Given the description of an element on the screen output the (x, y) to click on. 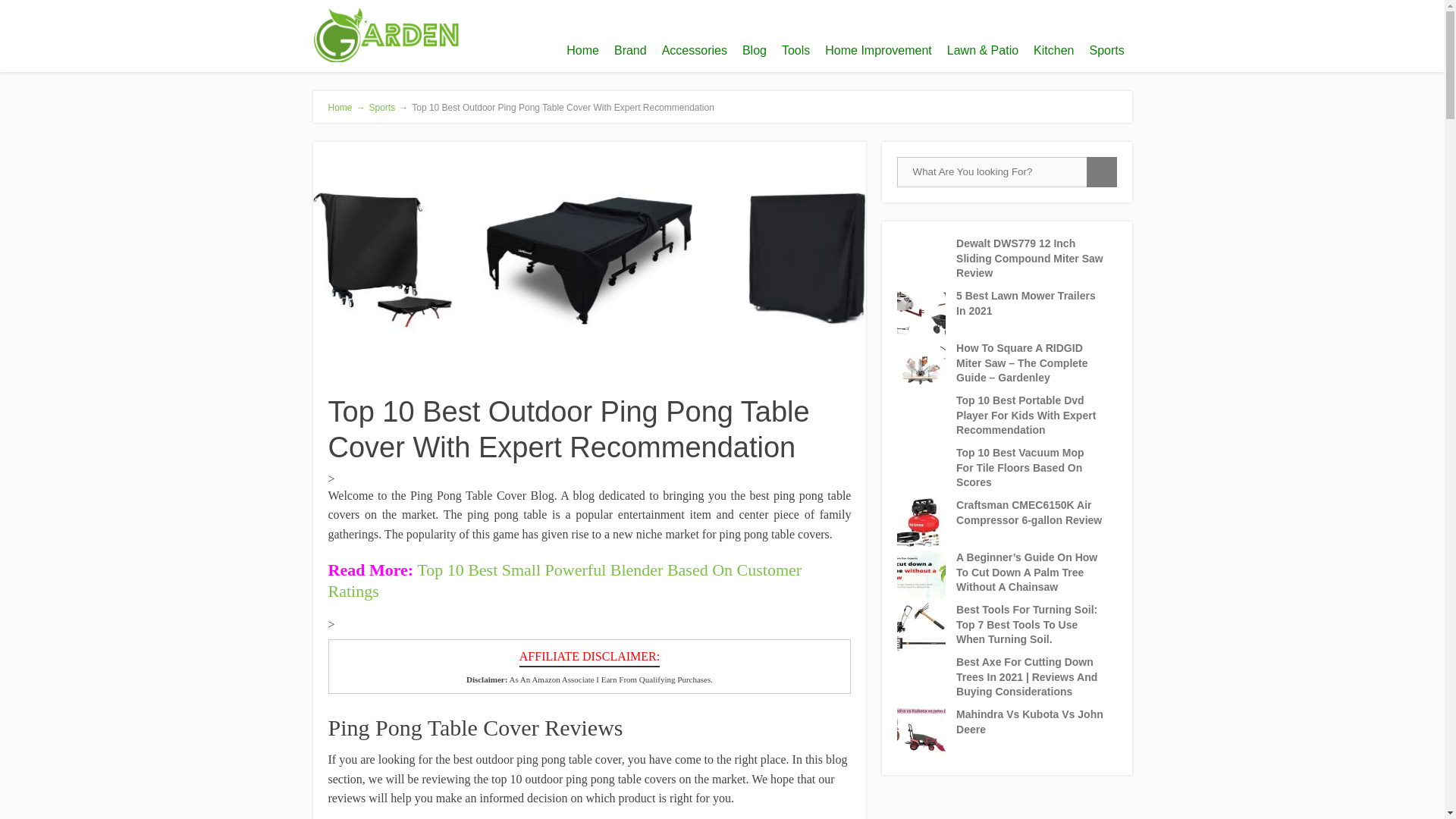
Sports (1106, 50)
Home Improvement (877, 50)
Accessories (694, 50)
Home (583, 50)
Sports (382, 107)
Tools (795, 50)
Brand (630, 50)
Kitchen (1053, 50)
Top 10 Best Small Powerful Blender Based On Customer Ratings (564, 580)
Blog (754, 50)
